Given the description of an element on the screen output the (x, y) to click on. 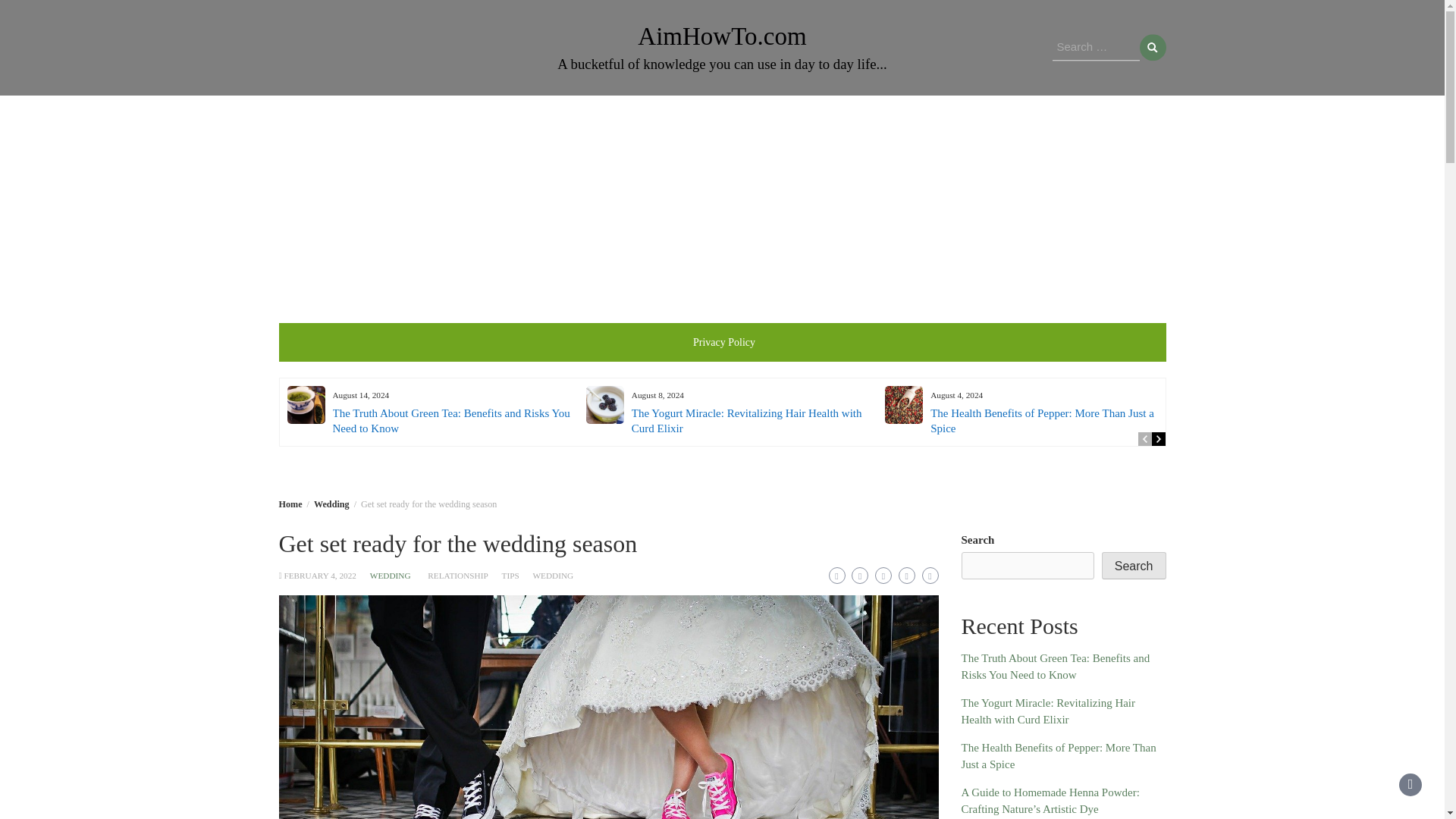
Search (1152, 47)
Search for: (1096, 47)
Search (1152, 47)
Search (1152, 47)
TIPS (510, 574)
RELATIONSHIP (457, 574)
WEDDING (552, 574)
FEBRUARY 4, 2022 (319, 574)
AimHowTo.com (721, 35)
